Given the description of an element on the screen output the (x, y) to click on. 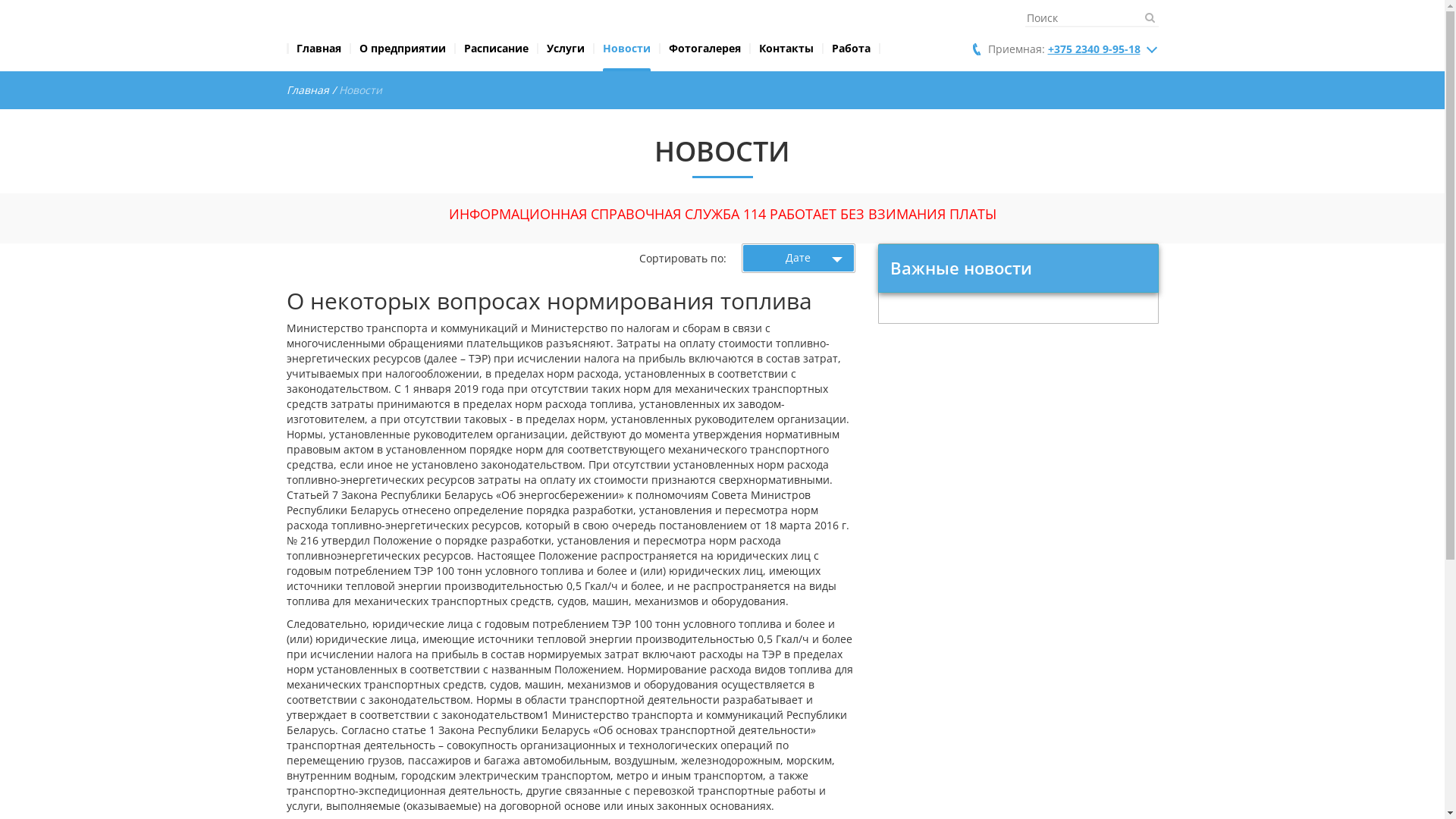
on Element type: text (4, 4)
